Given the description of an element on the screen output the (x, y) to click on. 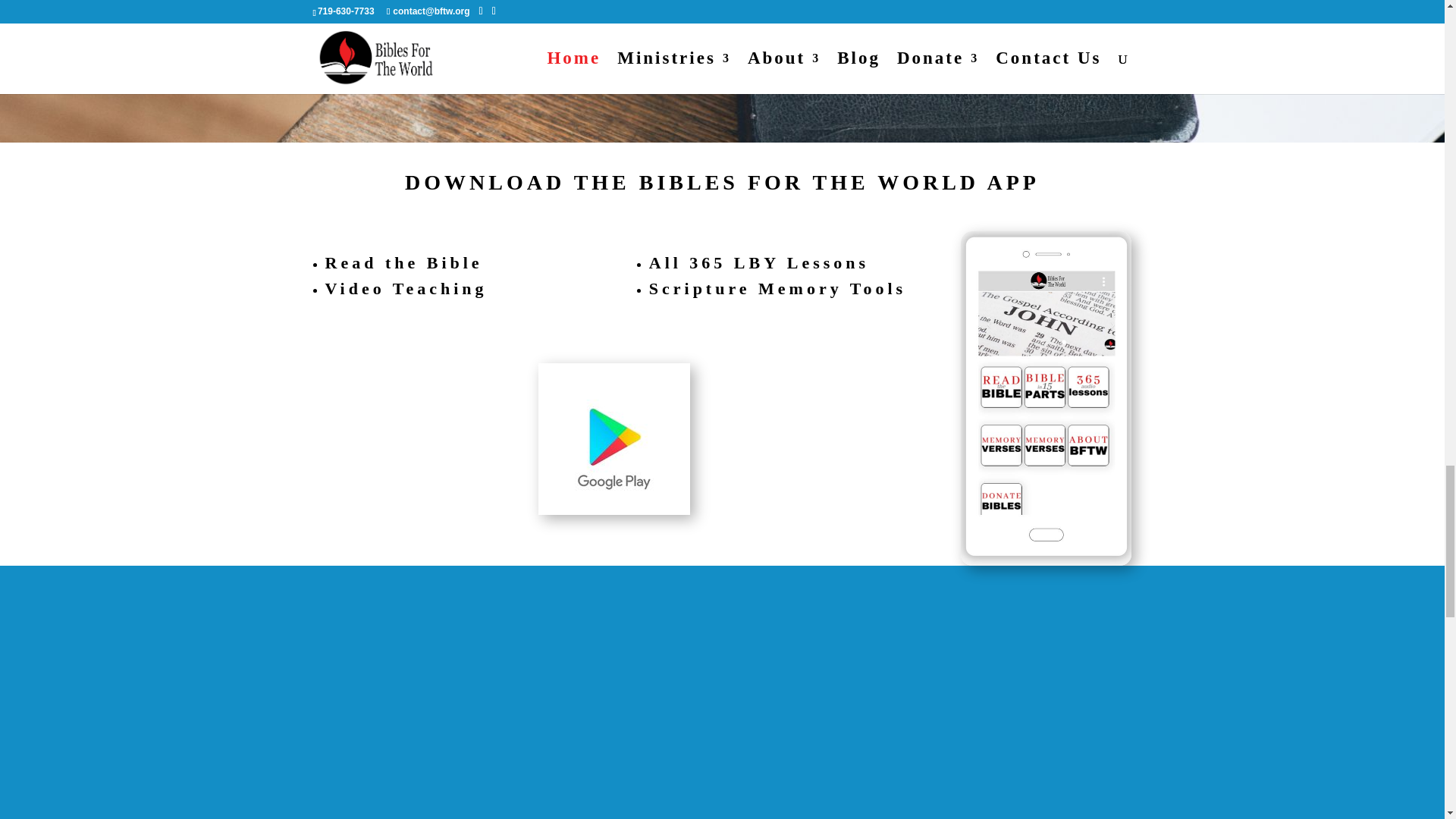
Donna Pope talks about Bibles For The World (687, 711)
Google (614, 439)
Bibles For The World Testimonials (1093, 711)
Jim Congdon talks about Bibles For The World (280, 711)
